Given the description of an element on the screen output the (x, y) to click on. 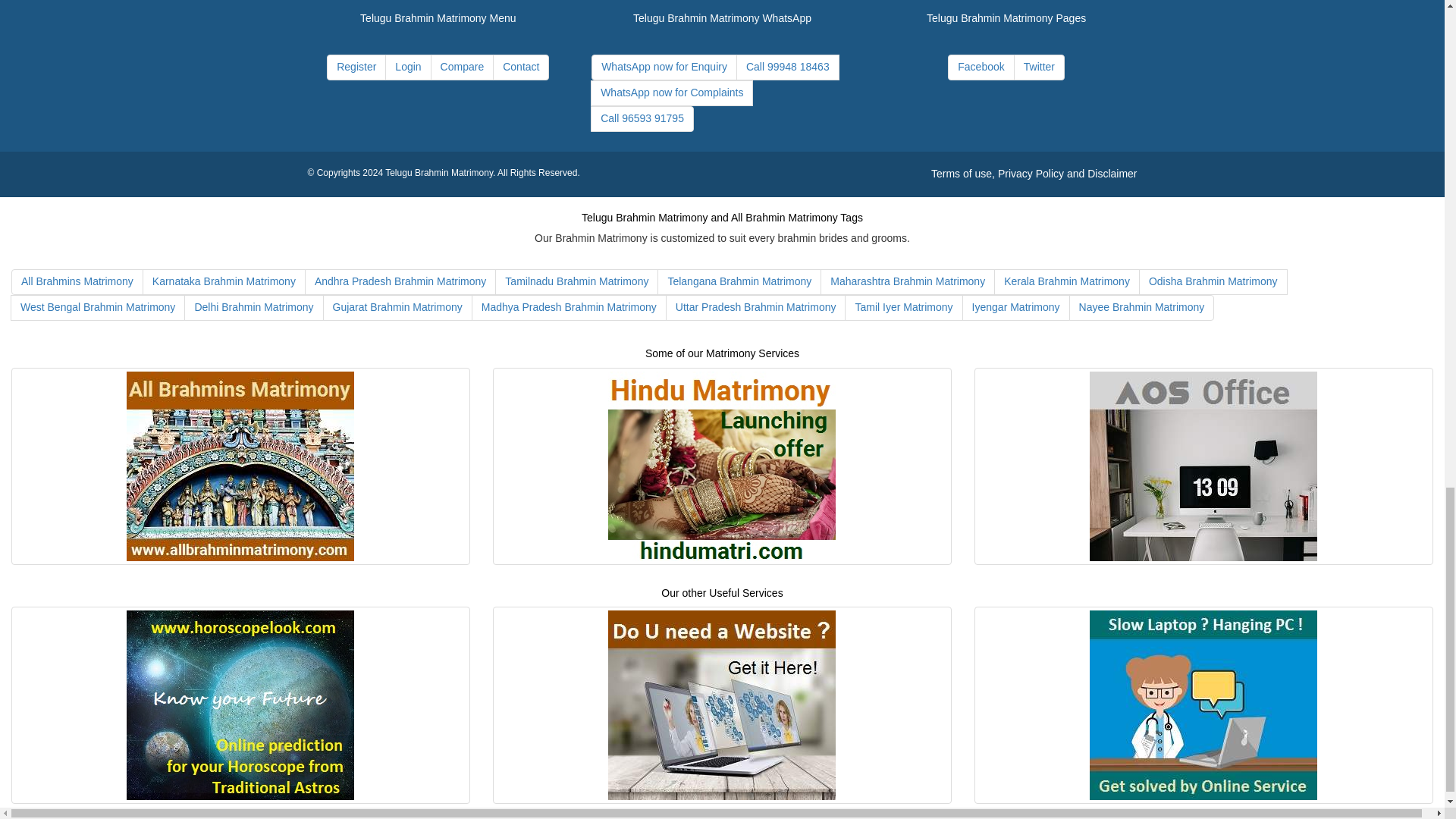
Odisha Brahmin Matrimony (1212, 281)
Register (355, 67)
Telangana Brahmin Matrimony (739, 281)
Andhra Pradesh Brahmin Matrimony (400, 281)
Facebook (980, 67)
Login (407, 67)
Login (407, 67)
Contact (520, 67)
Compare plans (462, 67)
West Bengal Brahmin Matrimony (97, 307)
